Given the description of an element on the screen output the (x, y) to click on. 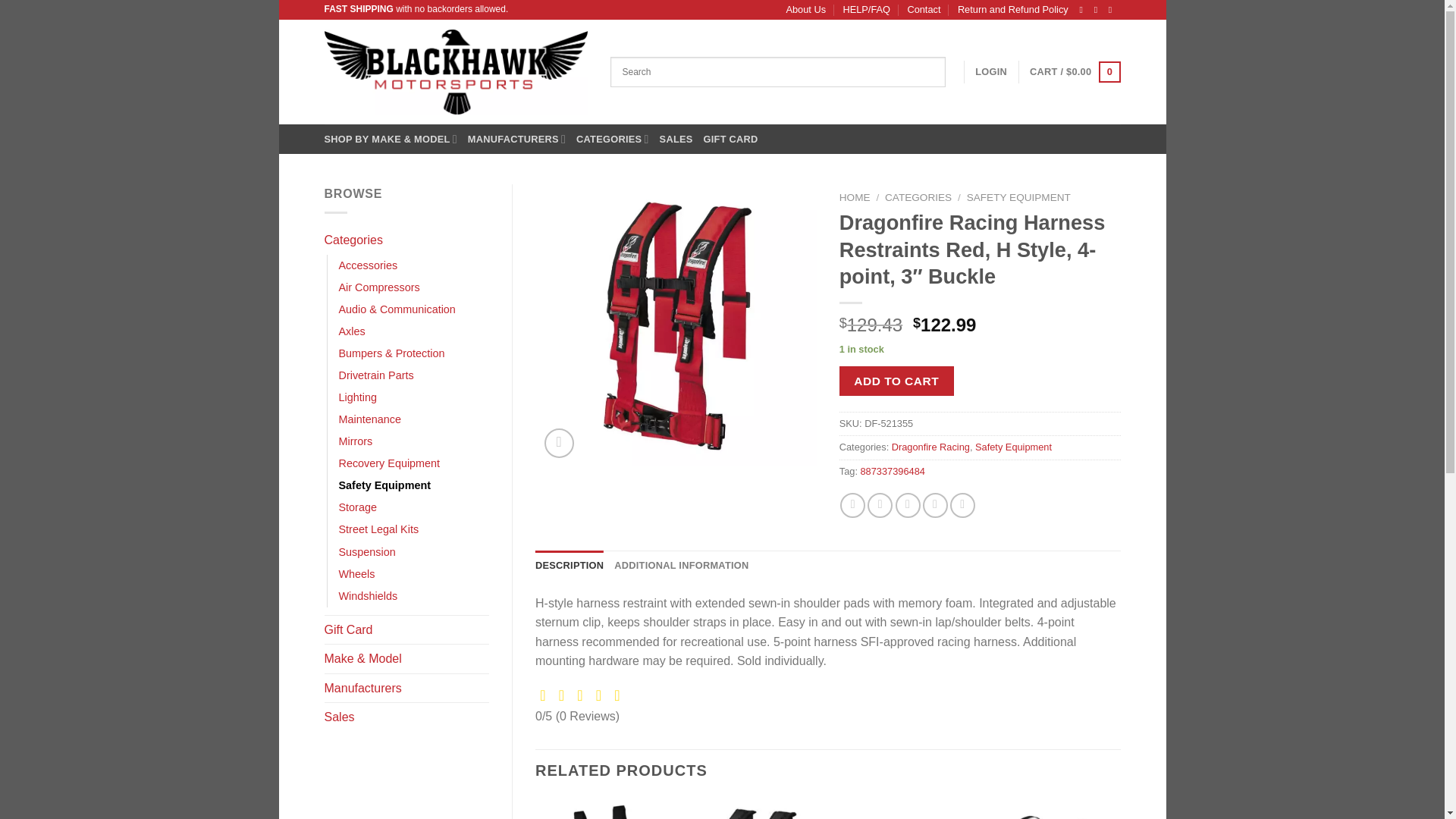
Zoom (558, 442)
About Us (805, 9)
Blackhawk Motorsports - Great Products at Great Prices! (456, 72)
